Given the description of an element on the screen output the (x, y) to click on. 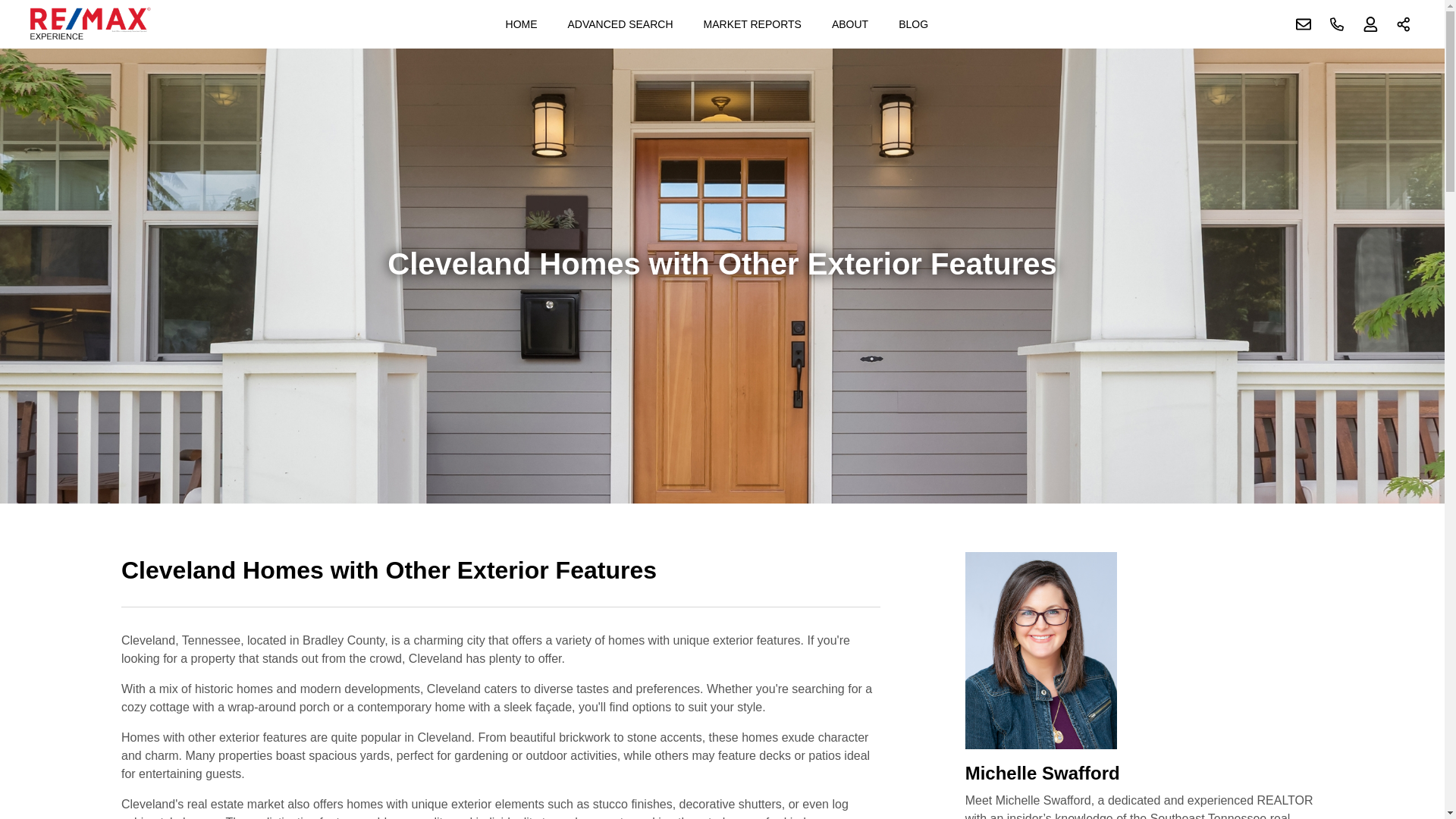
BLOG (913, 24)
ADVANCED SEARCH (620, 24)
Sellinghomestn.com (89, 24)
Cleveland Homes with Other Exterior Features (500, 579)
Sign up or Sign in (1370, 23)
Share (1404, 23)
Phone number (1337, 23)
HOME (521, 24)
MARKET REPORTS (752, 24)
Contact us (1303, 23)
